Given the description of an element on the screen output the (x, y) to click on. 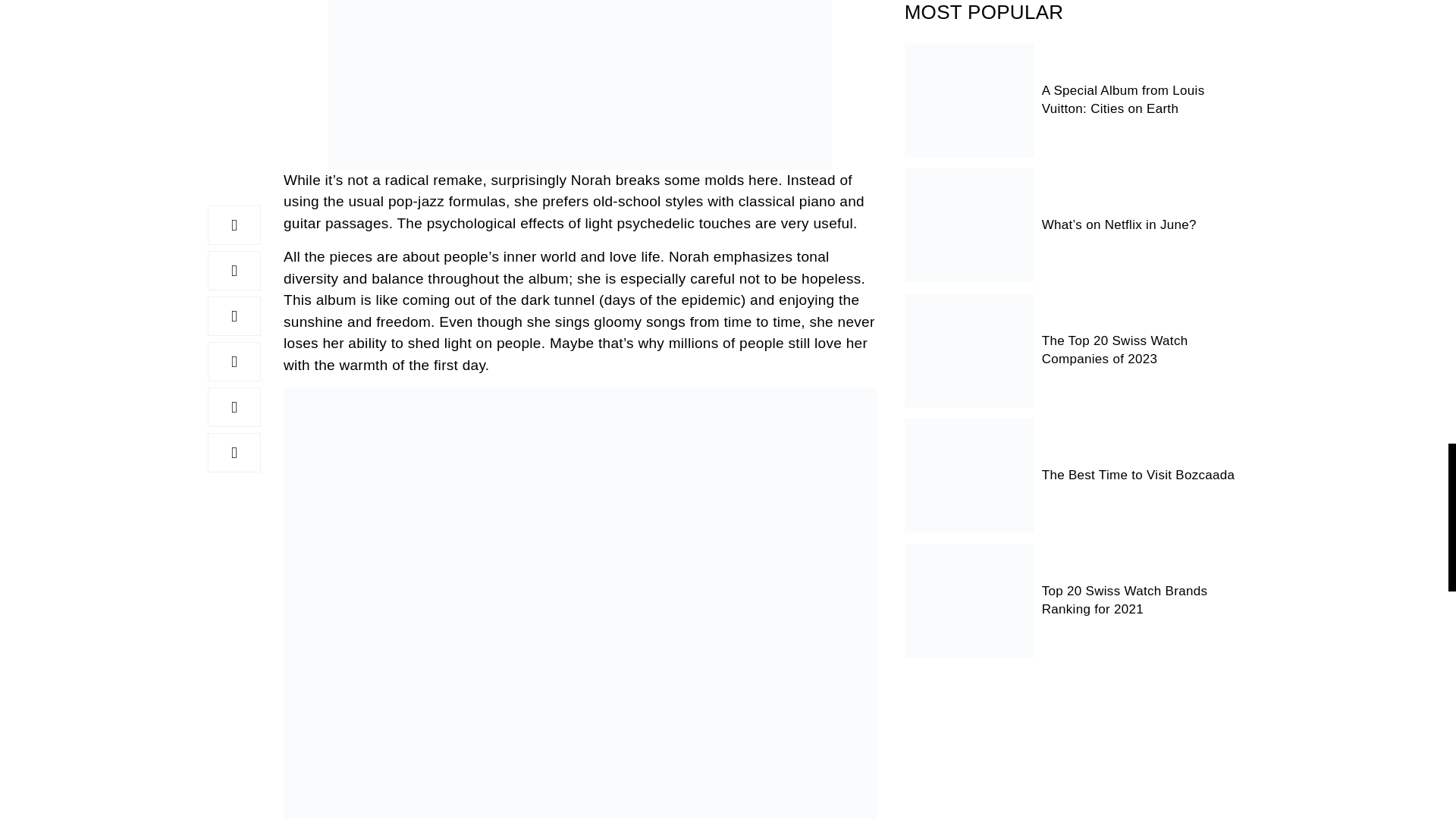
Norah Jones Announces Her New Album (580, 84)
